Given the description of an element on the screen output the (x, y) to click on. 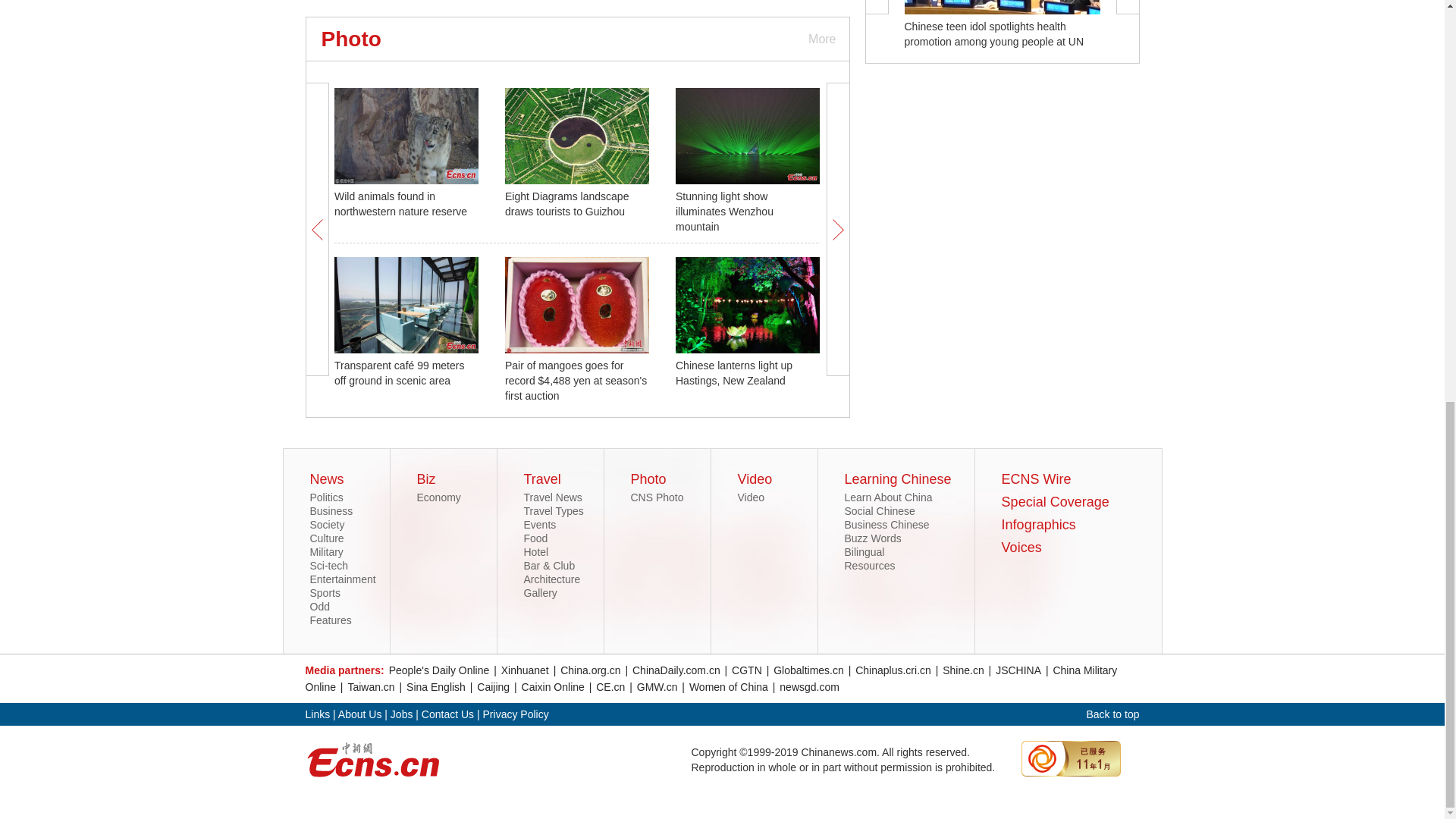
Wild animals found in northwestern nature reserve (400, 203)
Stunning light show illuminates Wenzhou mountain (724, 211)
Eight Diagrams landscape draws tourists to Guizhou (566, 203)
